Given the description of an element on the screen output the (x, y) to click on. 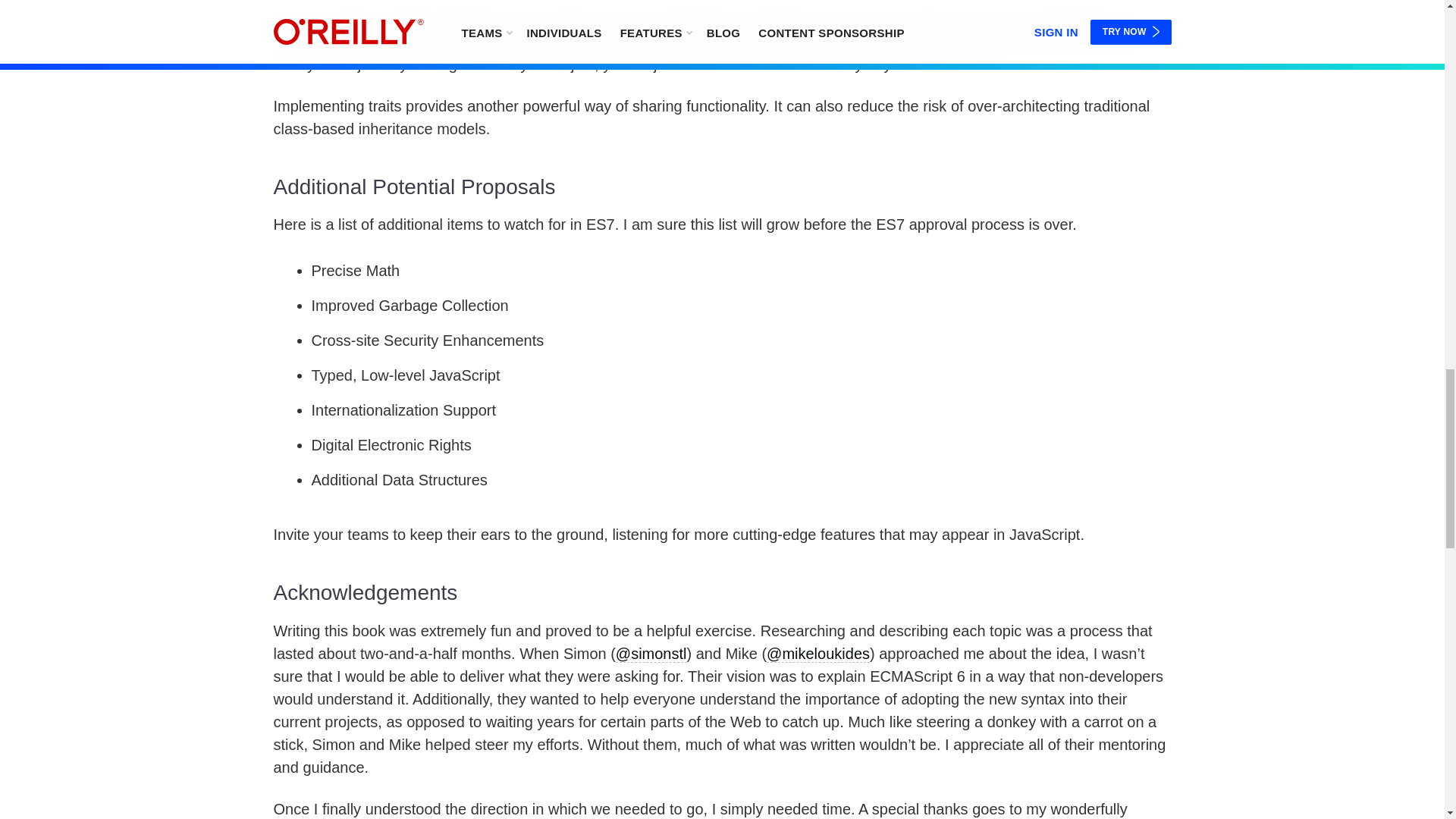
Traits (721, 70)
